Given the description of an element on the screen output the (x, y) to click on. 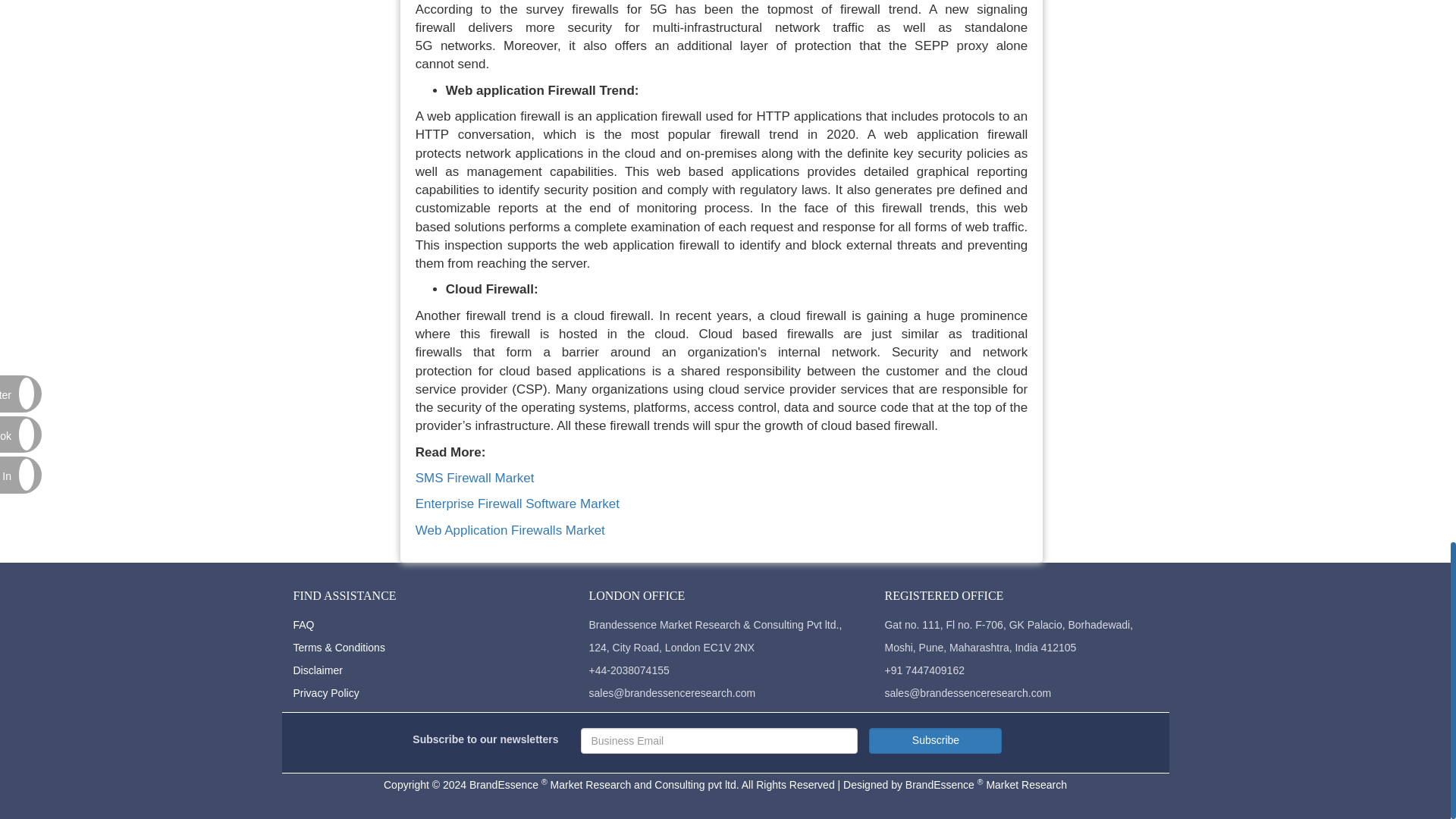
Subscribe (935, 740)
